Given the description of an element on the screen output the (x, y) to click on. 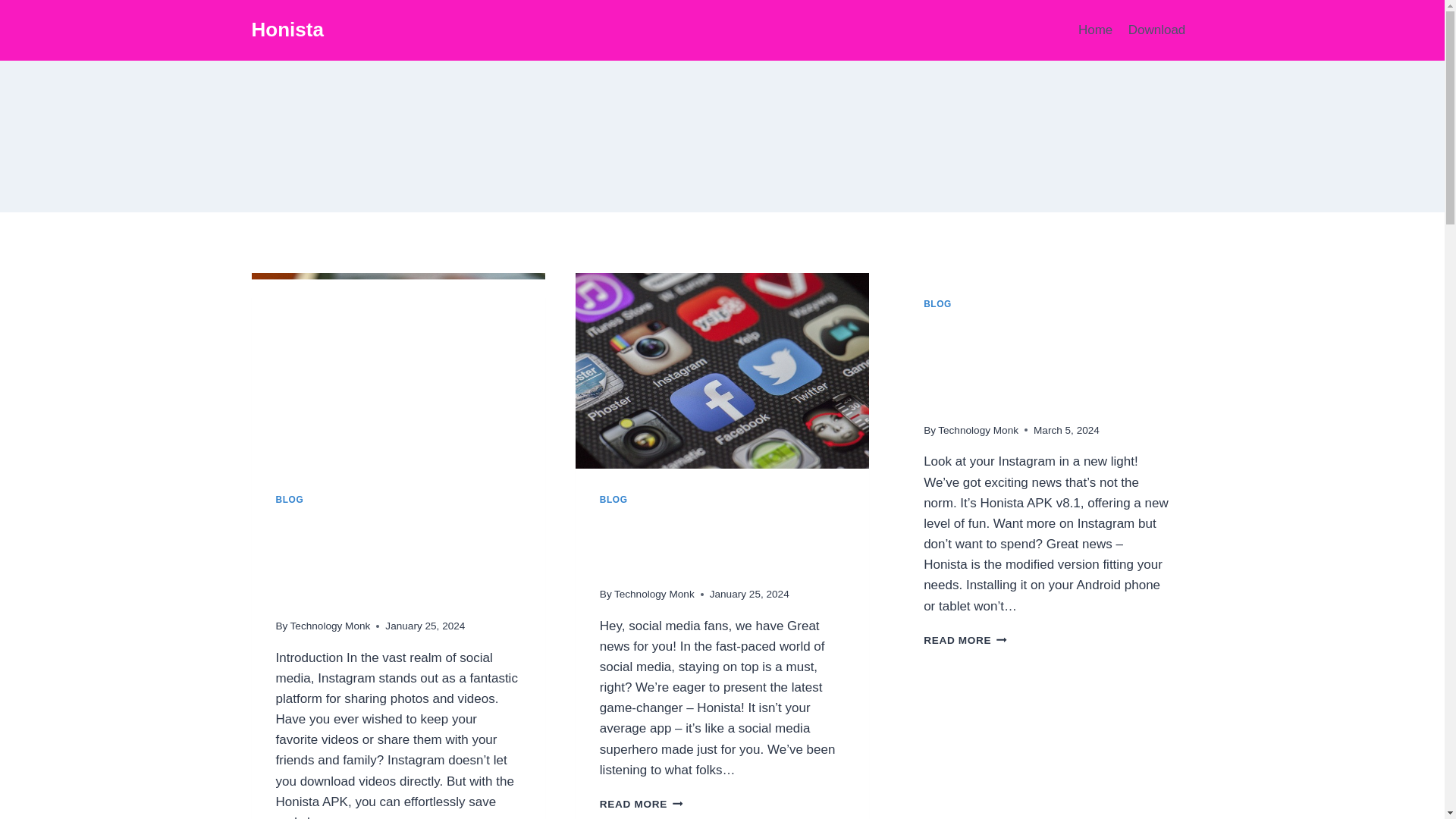
Honista (640, 803)
Honista APK v8.1 Version Free Official Download (287, 29)
Home (1026, 363)
Honista: An Instagram Video Downloader (1095, 30)
Technology Monk (712, 542)
BLOG (330, 625)
Technology Monk (613, 499)
BLOG (654, 593)
BLOG (937, 303)
